Given the description of an element on the screen output the (x, y) to click on. 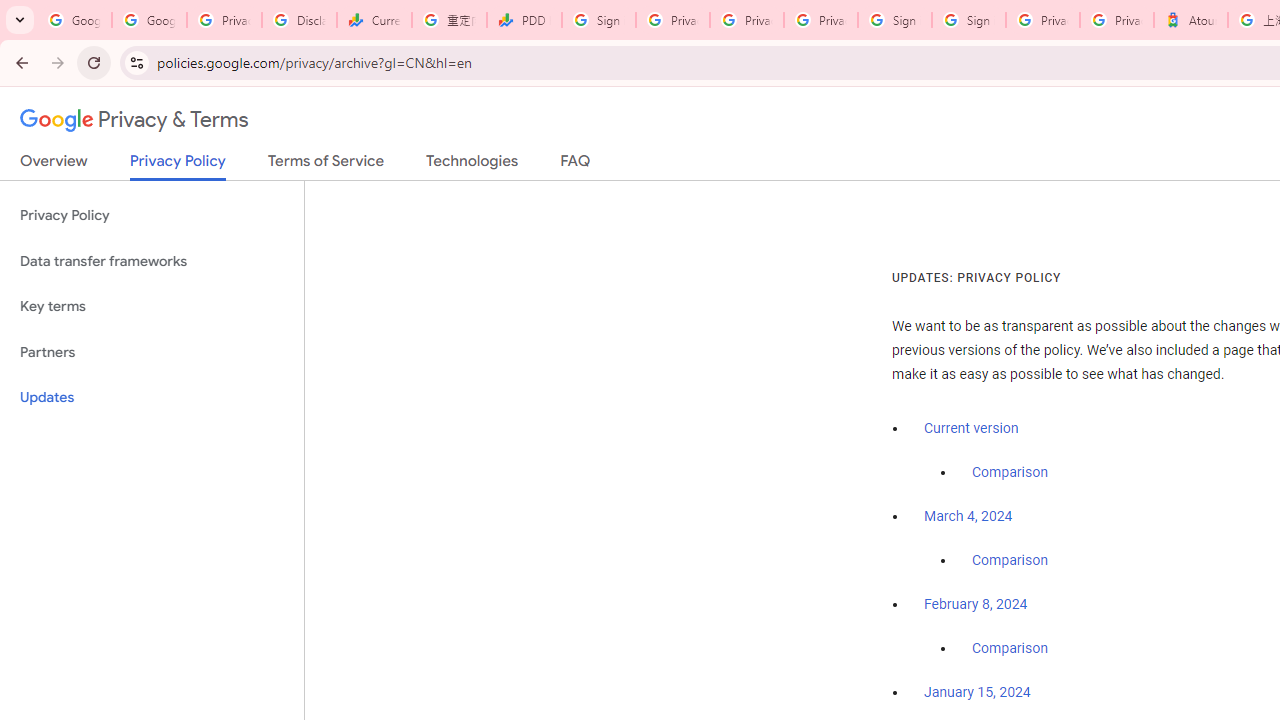
Comparison (1009, 649)
Privacy Checkup (747, 20)
